Given the description of an element on the screen output the (x, y) to click on. 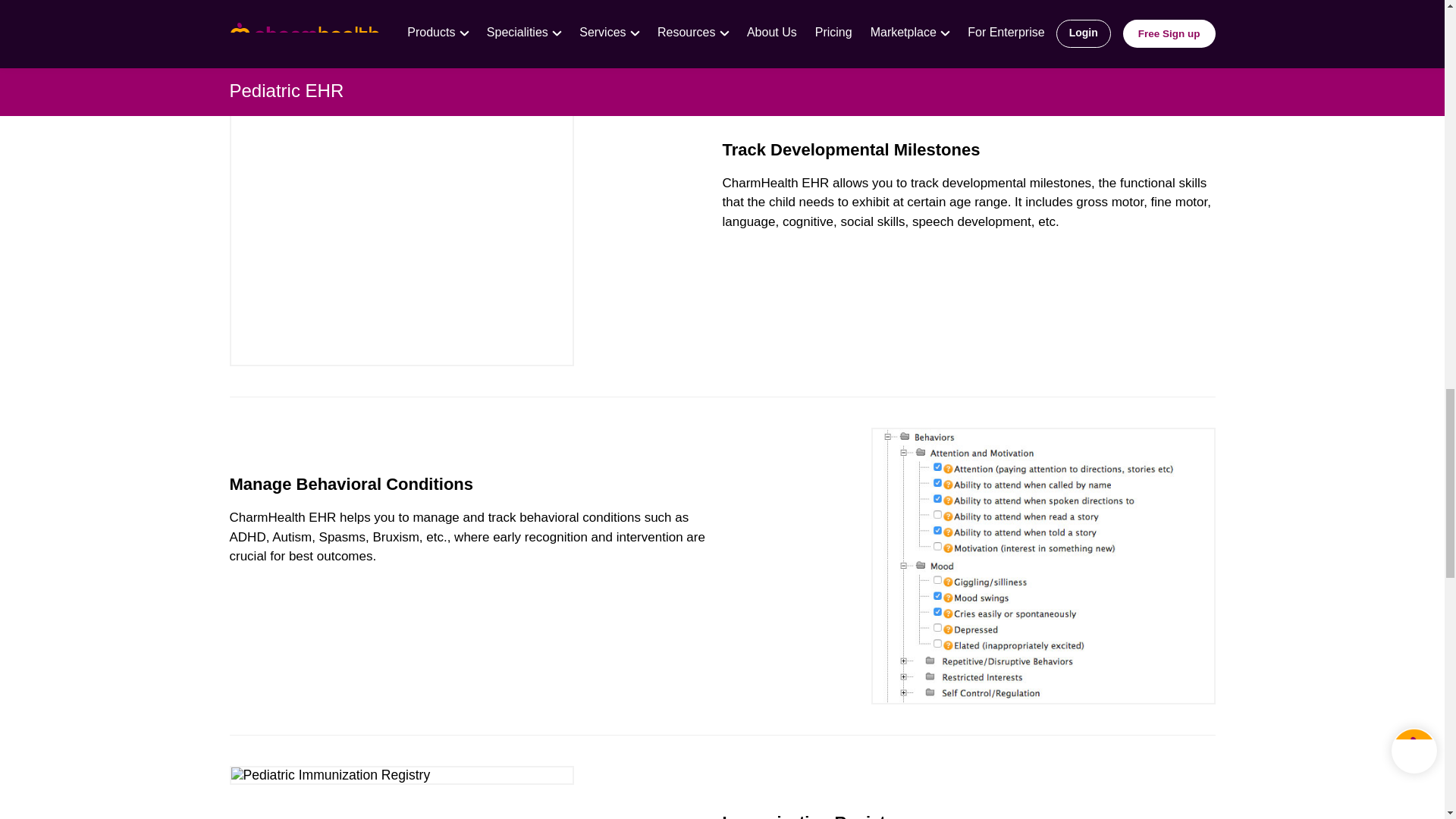
Pediatric Immunization Registry (400, 774)
Pediatric Growth Chart (1042, 15)
Pediatric Developmental Milestones (400, 229)
Pediatric Behavioral Conditions (1042, 565)
